Given the description of an element on the screen output the (x, y) to click on. 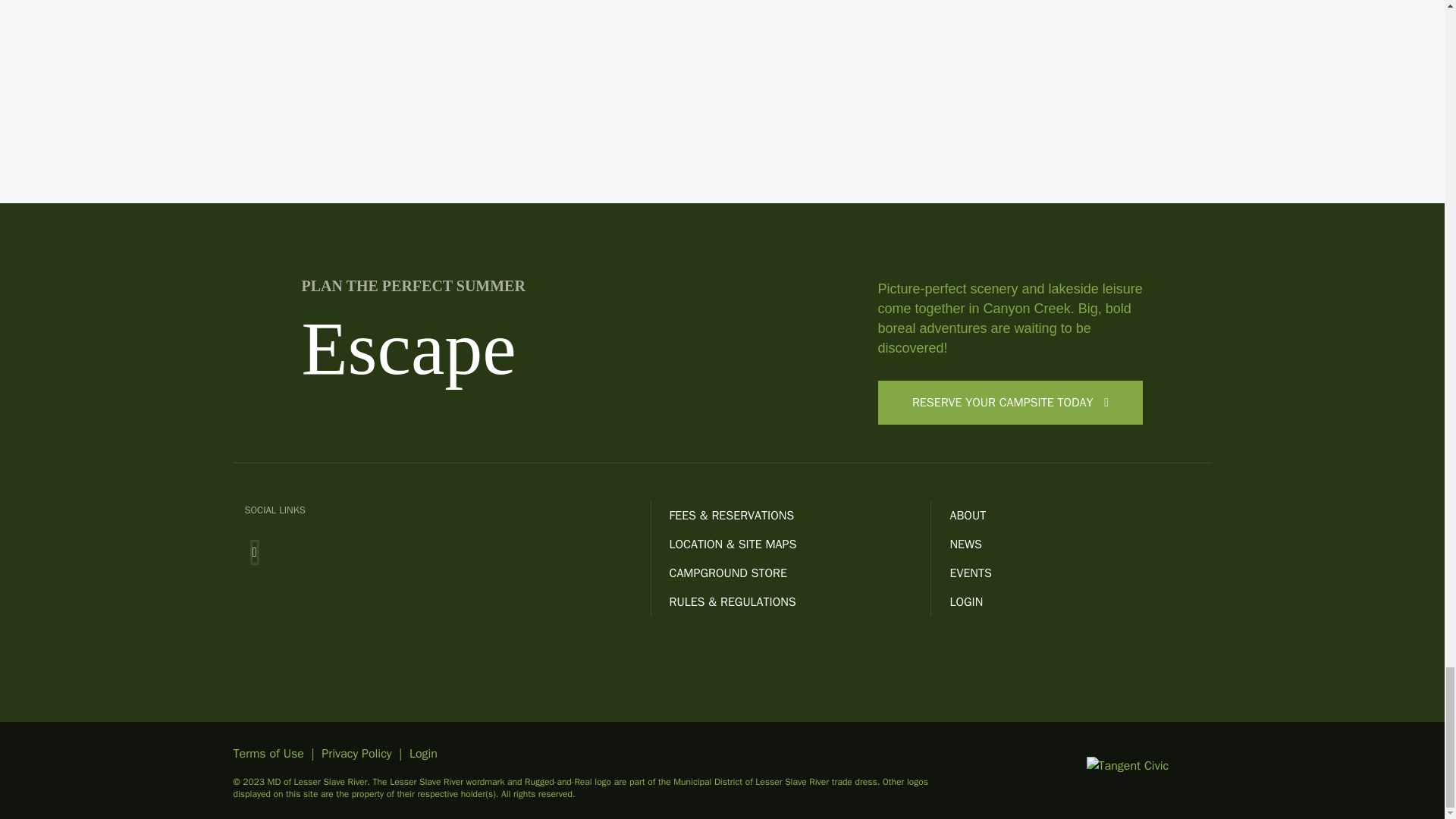
LOGIN (1080, 601)
RESERVE YOUR CAMPSITE TODAY (1010, 402)
CAMPGROUND STORE (799, 573)
Privacy Policy (356, 753)
NEWS (1080, 544)
Municipal District of Lesser Slave River (750, 781)
EVENTS (1080, 573)
Terms of Use (268, 753)
Login (423, 753)
ABOUT (1080, 515)
